Given the description of an element on the screen output the (x, y) to click on. 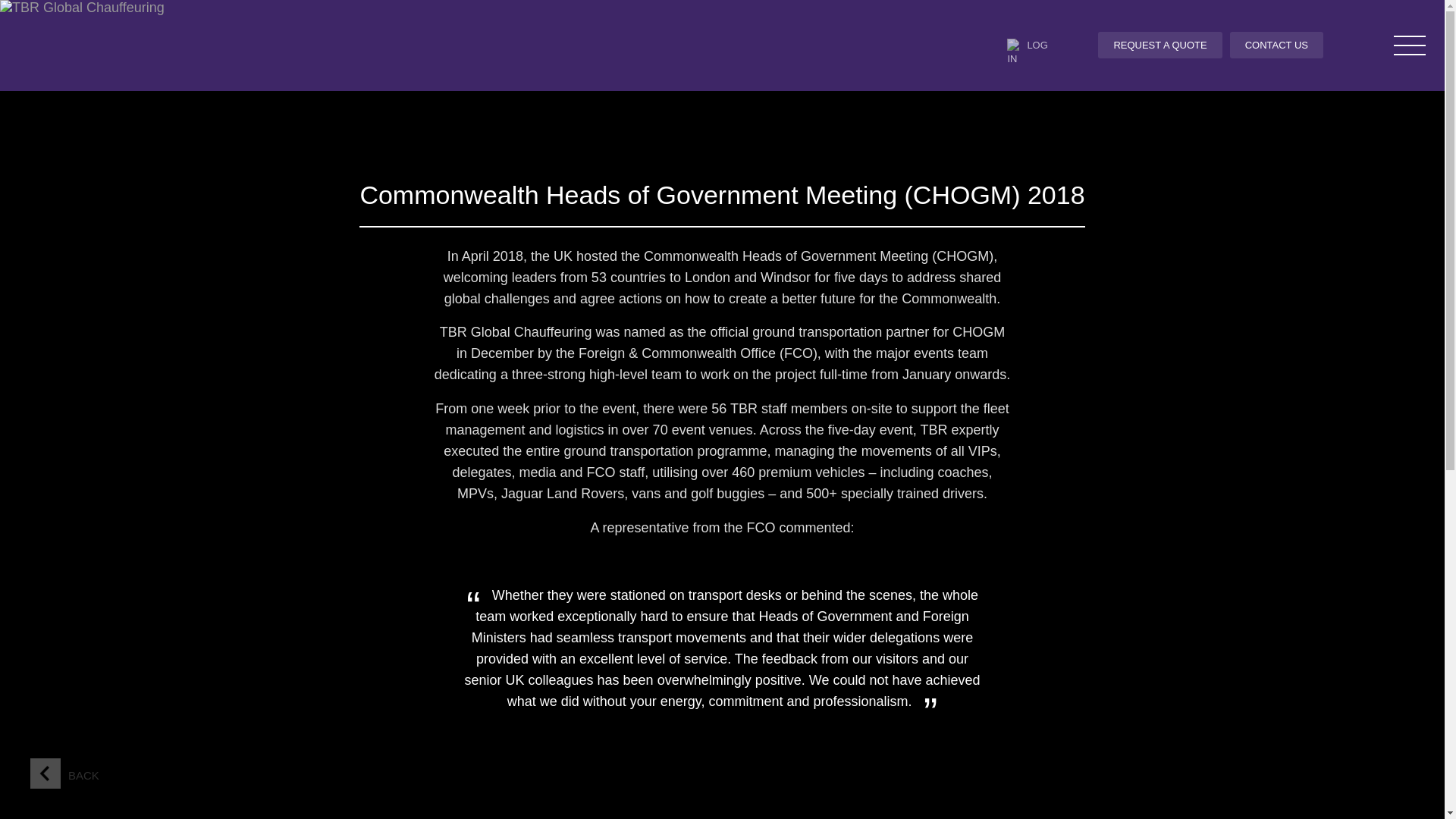
LOG IN (1033, 45)
BACK (87, 773)
REQUEST A QUOTE (1159, 44)
